Given the description of an element on the screen output the (x, y) to click on. 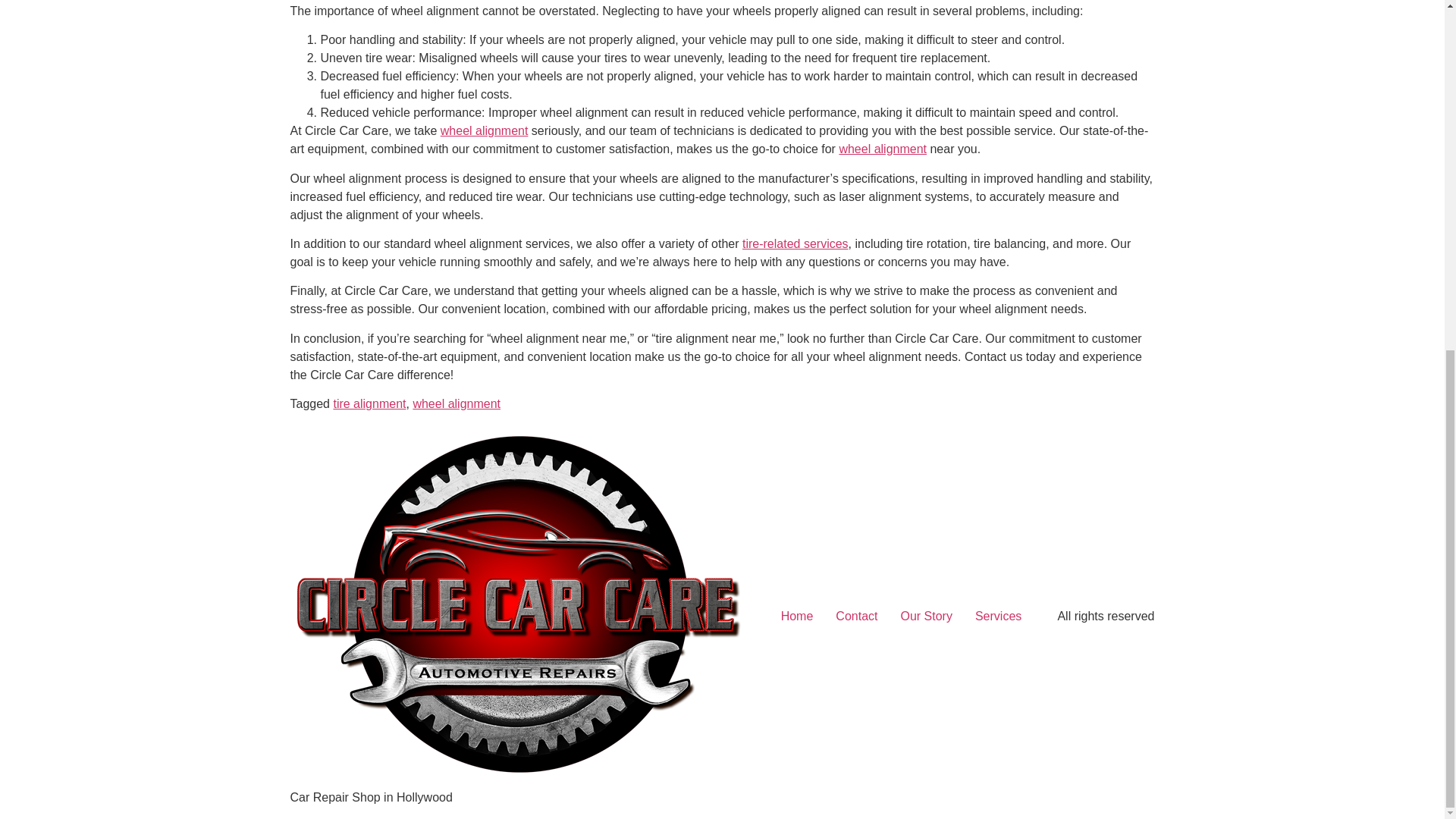
wheel alignment (456, 403)
wheel alignment (882, 148)
Our Story (925, 616)
tire alignment (369, 403)
Services (997, 616)
Home (797, 616)
tire-related services (795, 243)
wheel alignment (484, 130)
Contact (856, 616)
